Given the description of an element on the screen output the (x, y) to click on. 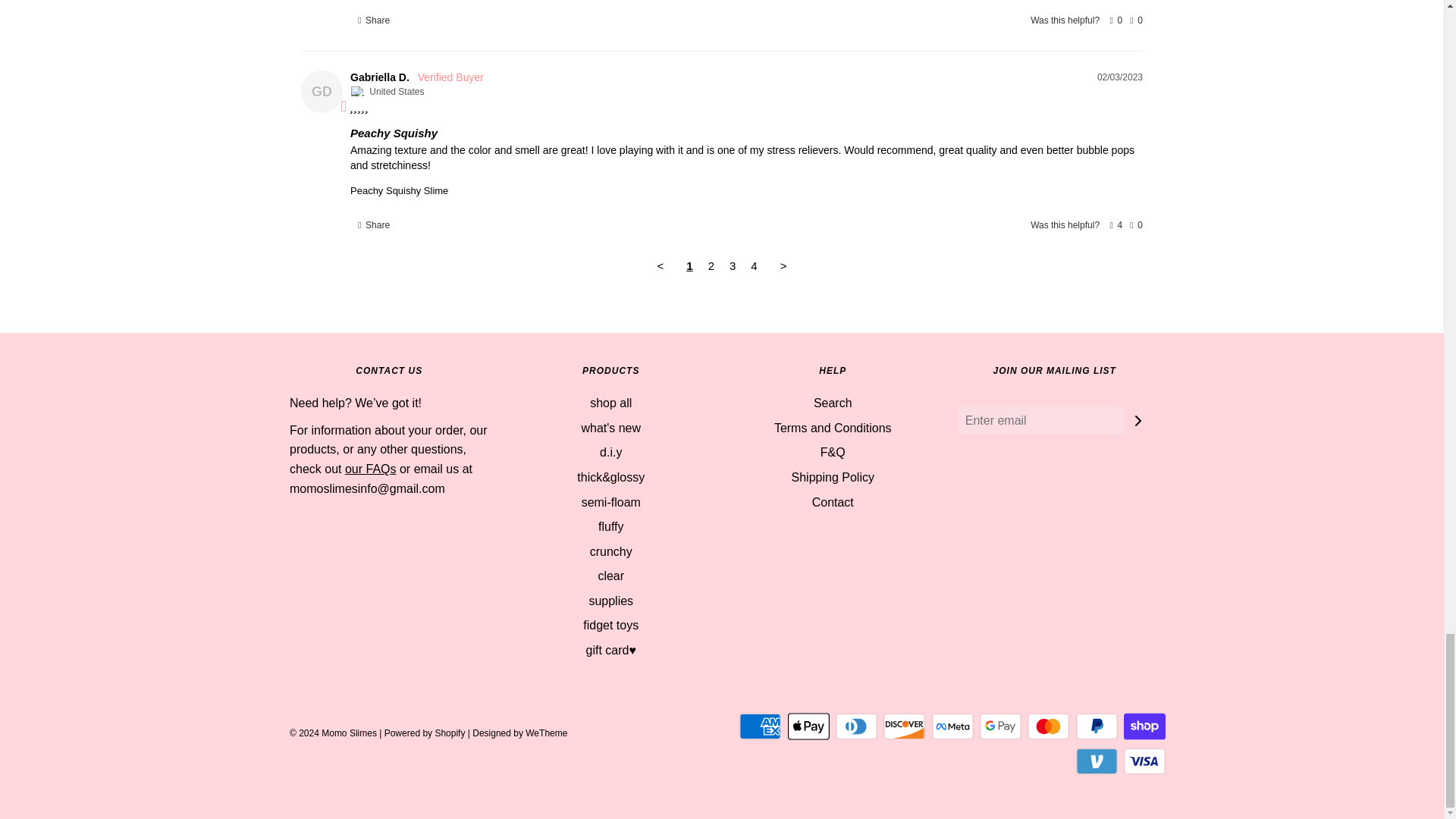
Diners Club (856, 726)
Meta Pay (952, 726)
Mastercard (1047, 726)
Discover (903, 726)
Designed by WeTheme (519, 733)
PayPal (1096, 726)
Frequently Asked Questions (370, 468)
Shop Pay (1145, 726)
Apple Pay (808, 726)
American Express (759, 726)
